Given the description of an element on the screen output the (x, y) to click on. 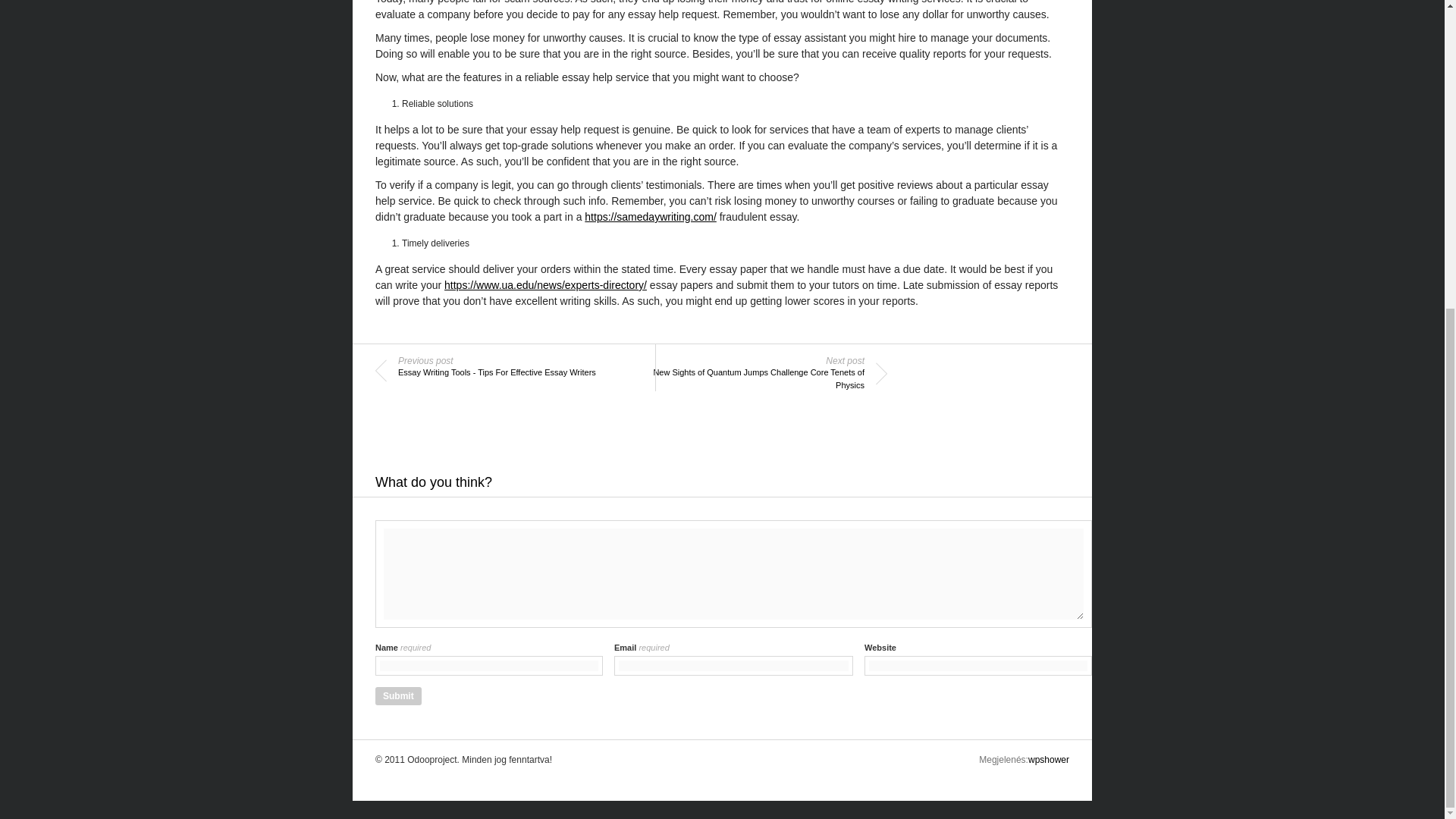
wpshower (1047, 759)
Submit (398, 696)
Submit (398, 696)
